Given the description of an element on the screen output the (x, y) to click on. 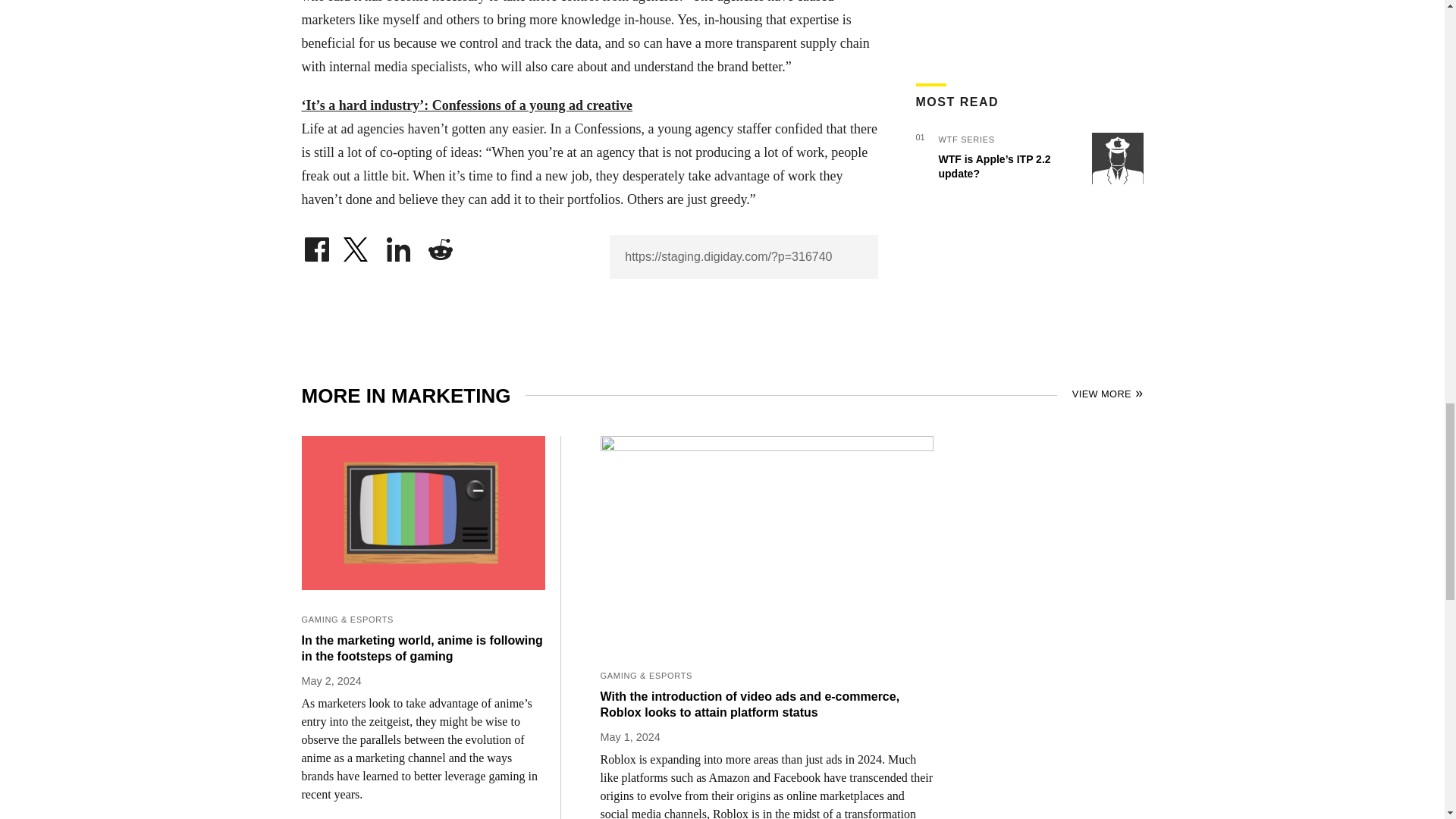
Share on Facebook (316, 245)
Share on Reddit (440, 245)
Share on LinkedIn (398, 245)
Share on Twitter (357, 245)
